Given the description of an element on the screen output the (x, y) to click on. 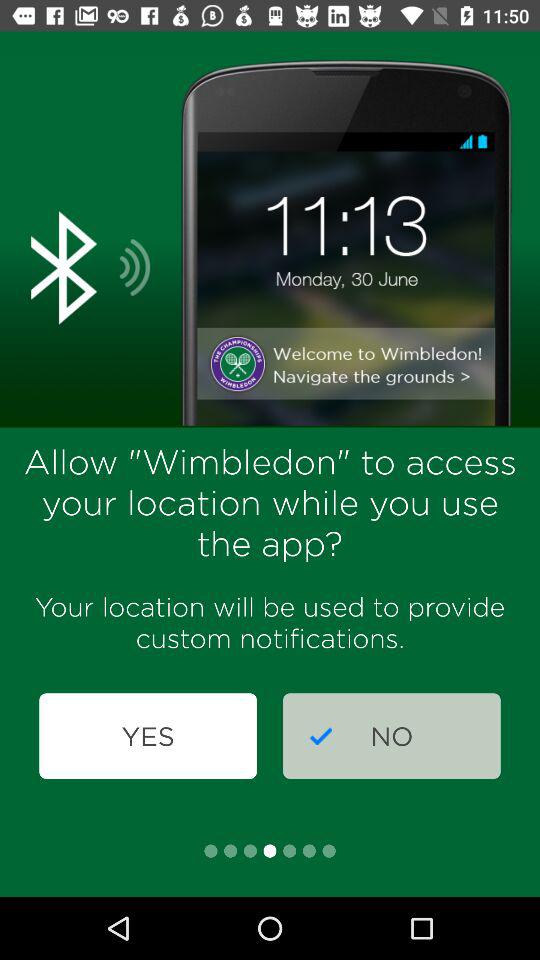
tap icon below your location will item (391, 735)
